Given the description of an element on the screen output the (x, y) to click on. 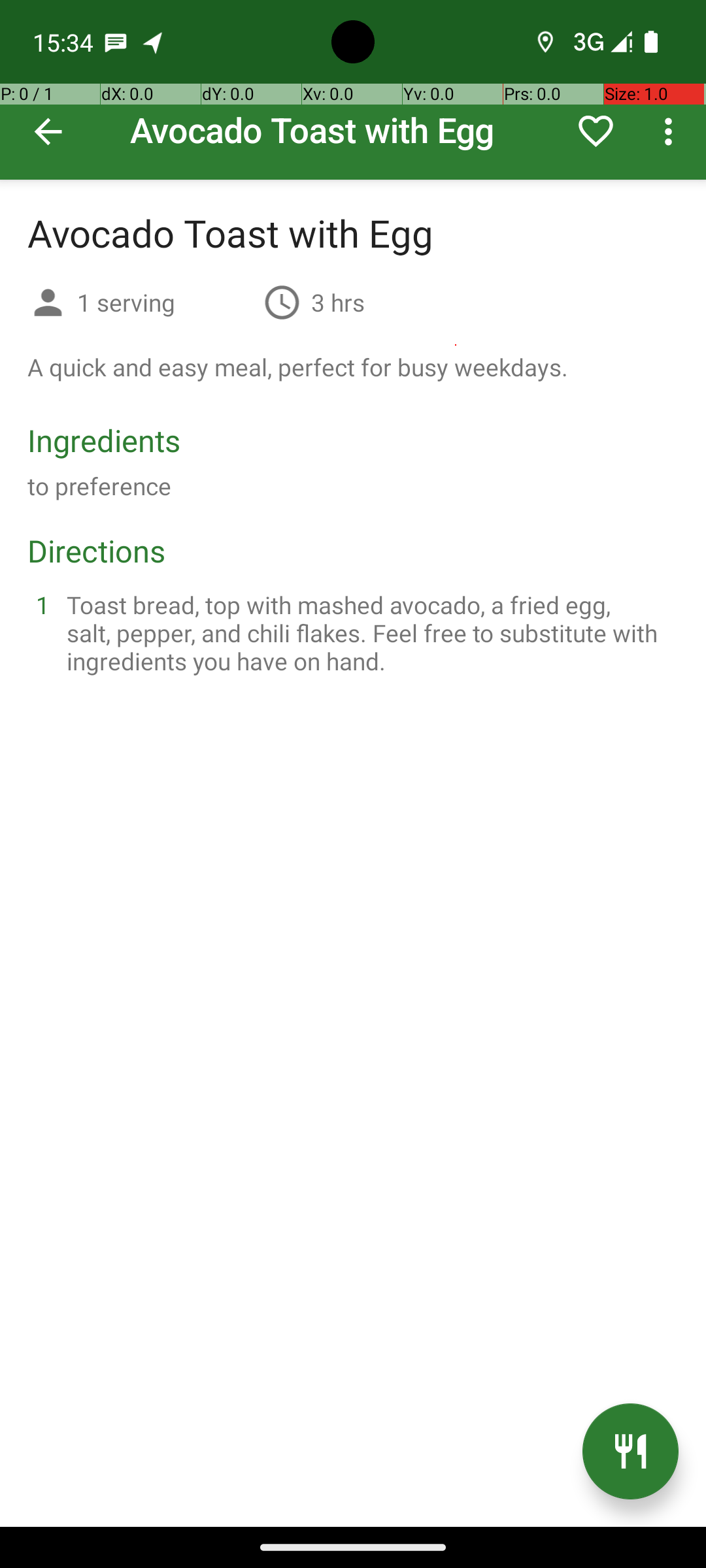
Avocado Toast with Egg Element type: android.widget.FrameLayout (353, 89)
1 serving Element type: android.widget.TextView (164, 301)
3 hrs Element type: android.widget.TextView (337, 301)
to preference Element type: android.widget.TextView (99, 485)
Toast bread, top with mashed avocado, a fried egg, salt, pepper, and chili flakes. Feel free to substitute with ingredients you have on hand. Element type: android.widget.TextView (368, 632)
